Given the description of an element on the screen output the (x, y) to click on. 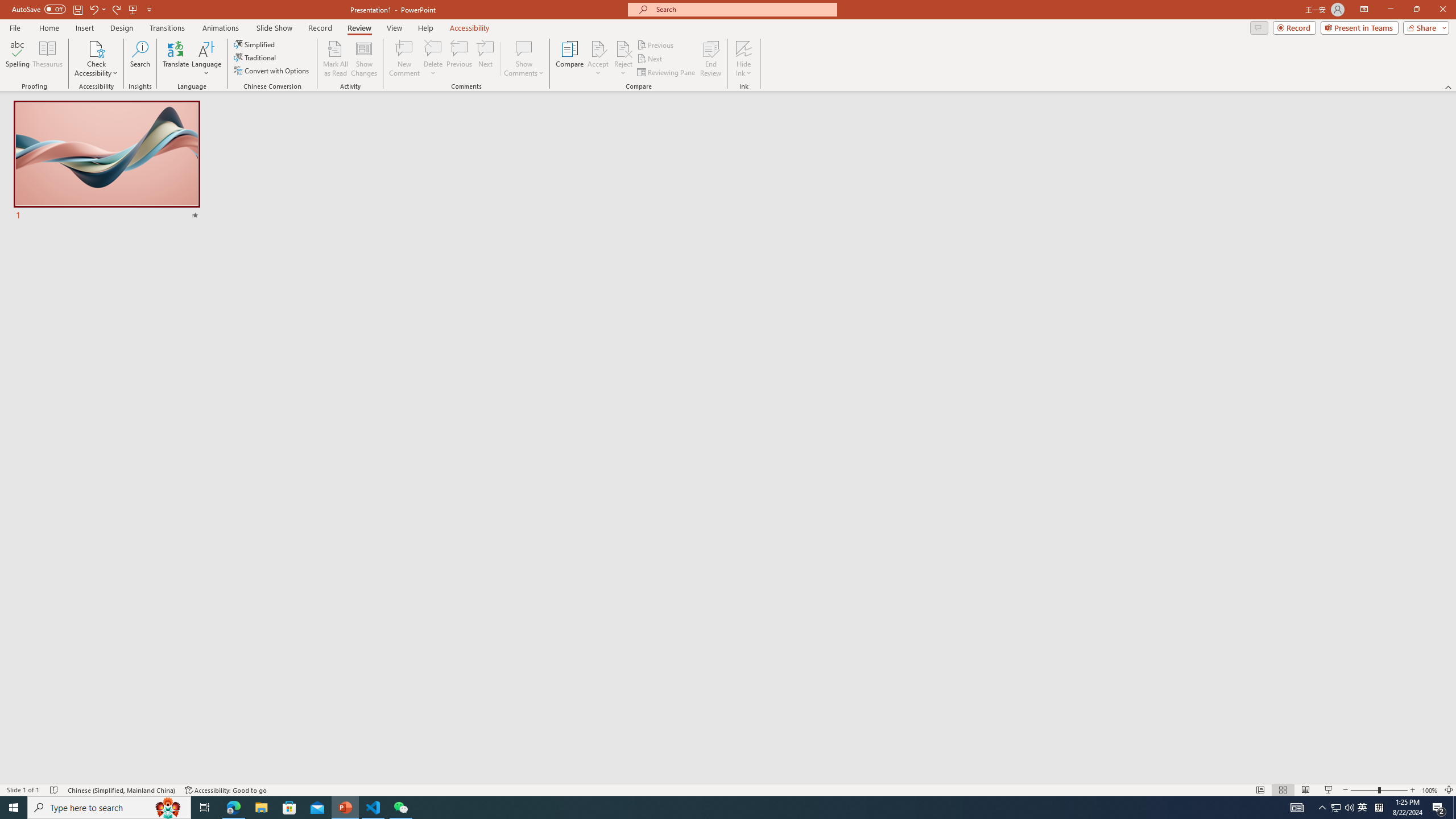
Search (140, 58)
Check Accessibility (95, 58)
End Review (710, 58)
Microsoft search (742, 9)
Reject (622, 58)
Zoom 100% (1430, 790)
